Given the description of an element on the screen output the (x, y) to click on. 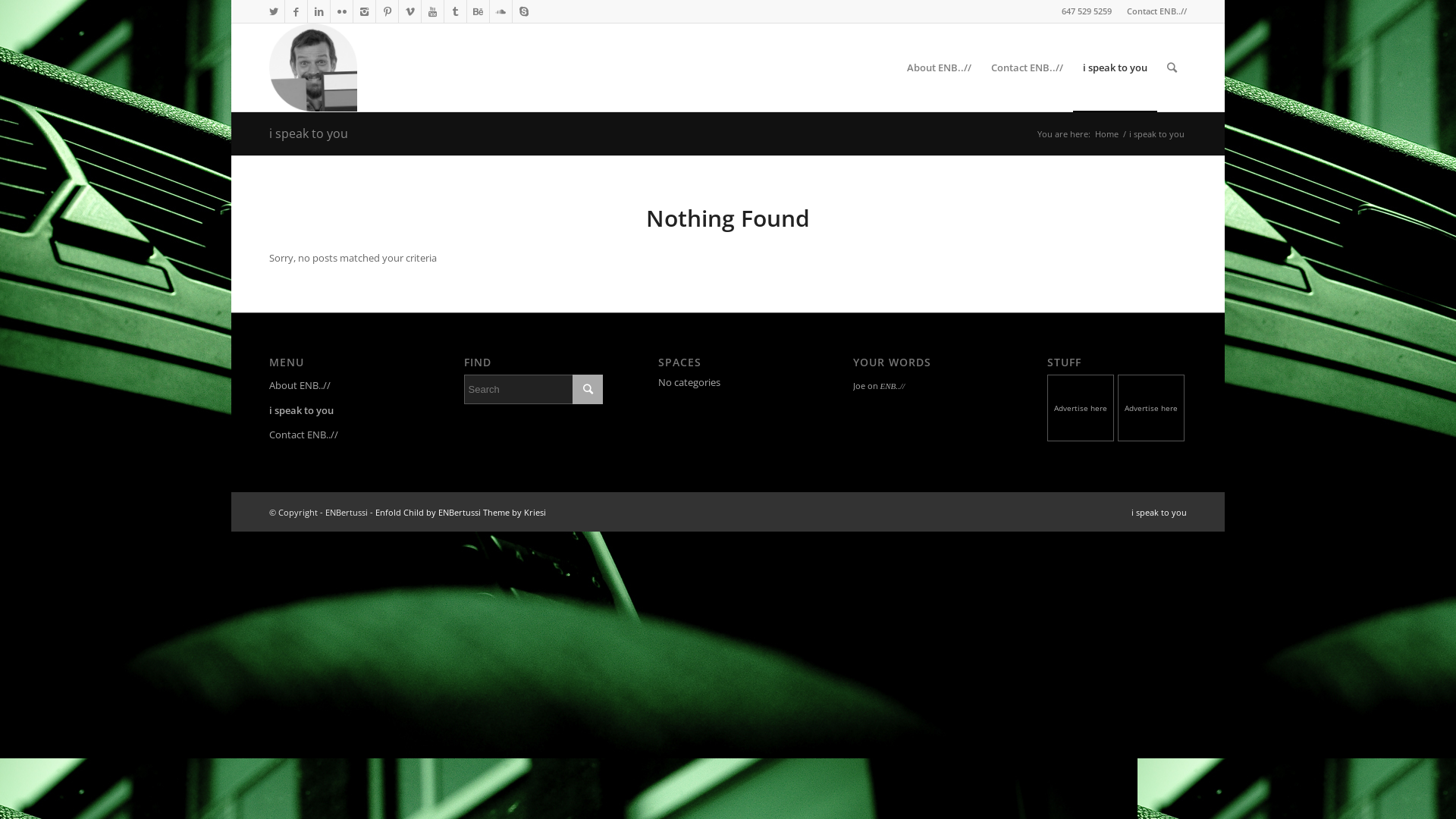
About ENB..// Element type: text (338, 385)
i speak to you Element type: text (1158, 511)
Tumblr Element type: hover (455, 11)
Behance Element type: hover (478, 11)
Home Element type: text (1106, 133)
Contact ENB..// Element type: text (1027, 67)
Pinterest Element type: hover (387, 11)
ENB..// Element type: text (891, 385)
Skype Element type: hover (523, 11)
i speak to you Element type: text (338, 410)
Enfold Child by ENBertussi Theme by Kriesi Element type: text (460, 511)
Facebook Element type: hover (296, 11)
i speak to you Element type: text (1115, 67)
Vimeo Element type: hover (409, 11)
Advertise here Element type: text (1151, 408)
Linkedin Element type: hover (318, 11)
Soundcloud Element type: hover (500, 11)
Contact ENB..// Element type: text (338, 434)
Instagram Element type: hover (364, 11)
Youtube Element type: hover (432, 11)
i speak to you Element type: text (308, 133)
Contact ENB..// Element type: text (1156, 10)
Flickr Element type: hover (341, 11)
Twitter Element type: hover (273, 11)
Advertise here Element type: text (1081, 408)
About ENB..// Element type: text (939, 67)
